Given the description of an element on the screen output the (x, y) to click on. 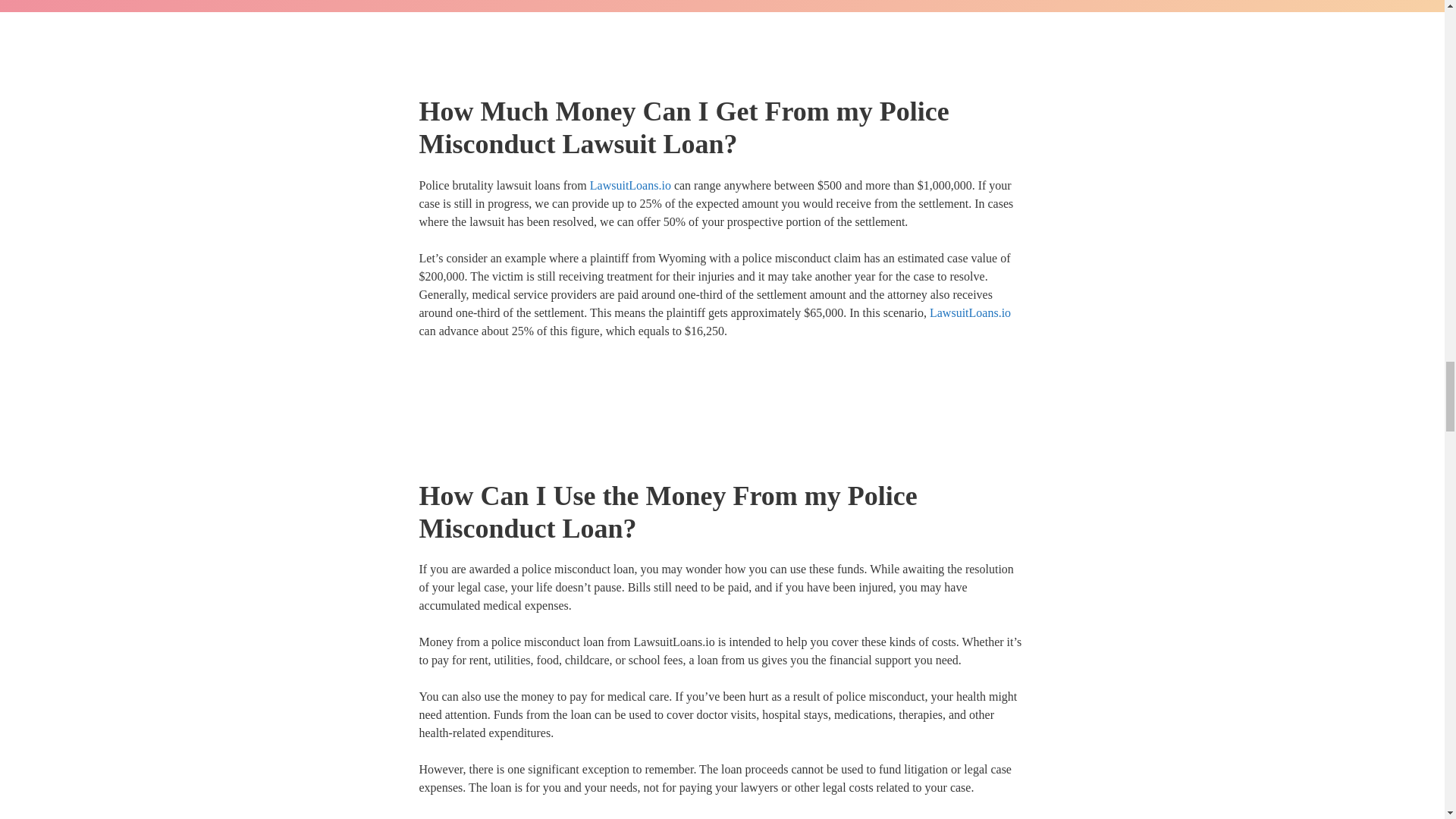
LawsuitLoans.io (682, 818)
LawsuitLoans.io (970, 312)
LawsuitLoans.io (630, 185)
